Given the description of an element on the screen output the (x, y) to click on. 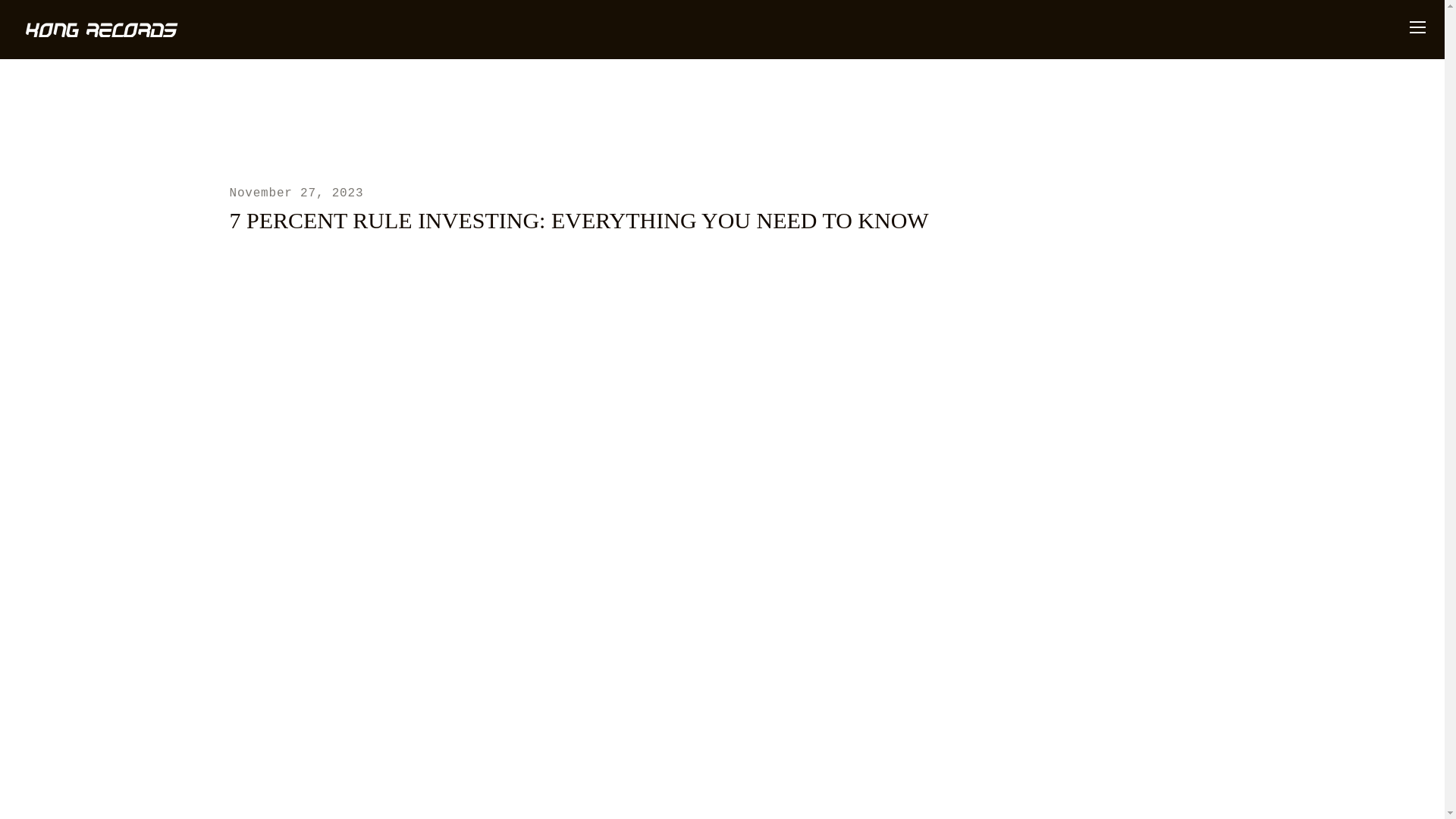
November 27, 2023 (295, 192)
